Given the description of an element on the screen output the (x, y) to click on. 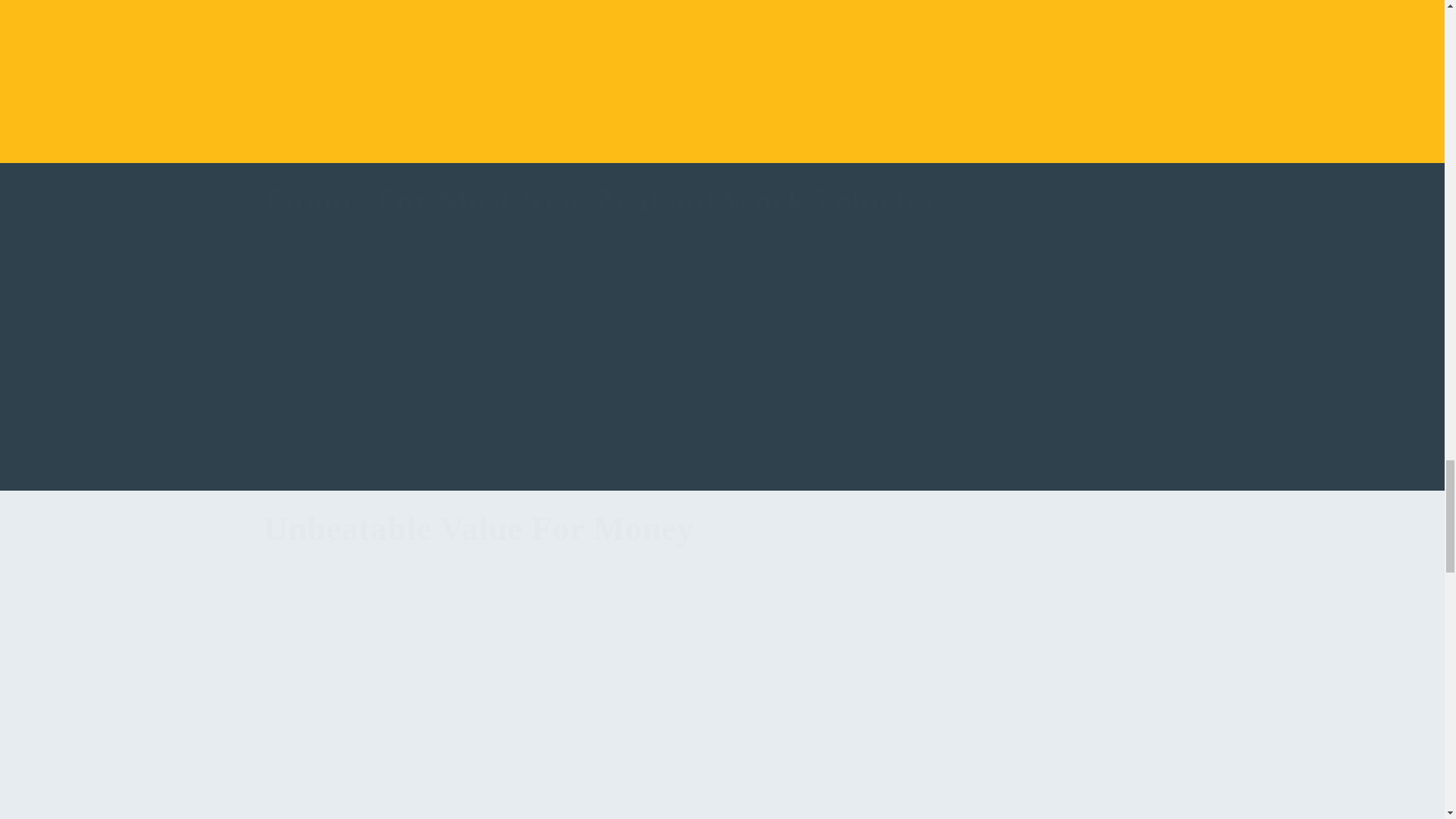
0 (800, 328)
0 (603, 16)
0 (1116, 458)
0 (958, 458)
0 (642, 328)
0 (839, 16)
